Given the description of an element on the screen output the (x, y) to click on. 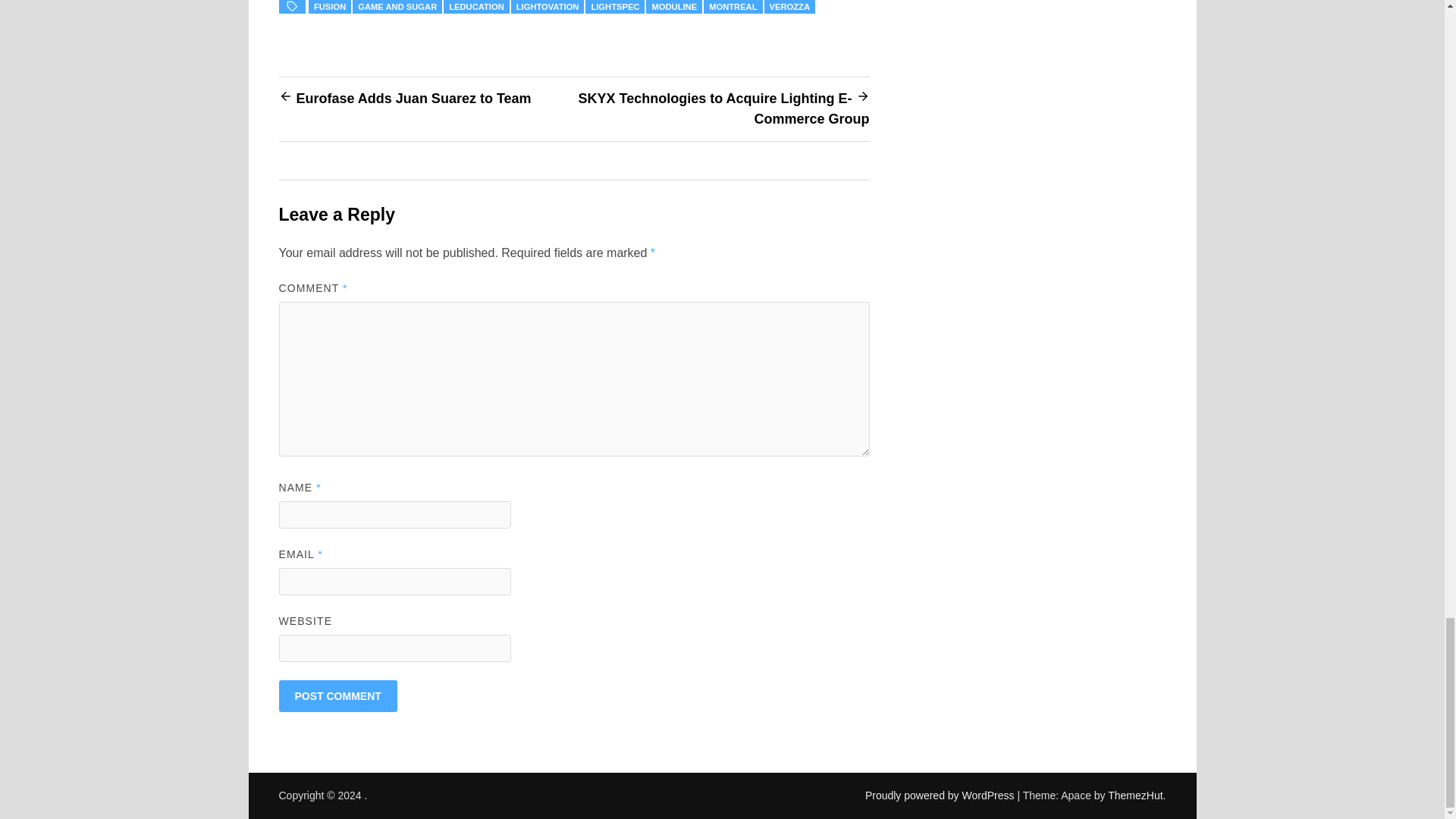
MONTREAL (732, 6)
VEROZZA (789, 6)
LEDUCATION (476, 6)
Post Comment (338, 695)
LIGHTSPEC (615, 6)
FUSION (329, 6)
LIGHTOVATION (548, 6)
SKYX Technologies to Acquire Lighting E-Commerce Group (723, 108)
MODULINE (673, 6)
Post Comment (338, 695)
GAME AND SUGAR (397, 6)
Eurofase Adds Juan Suarez to Team (413, 98)
